Given the description of an element on the screen output the (x, y) to click on. 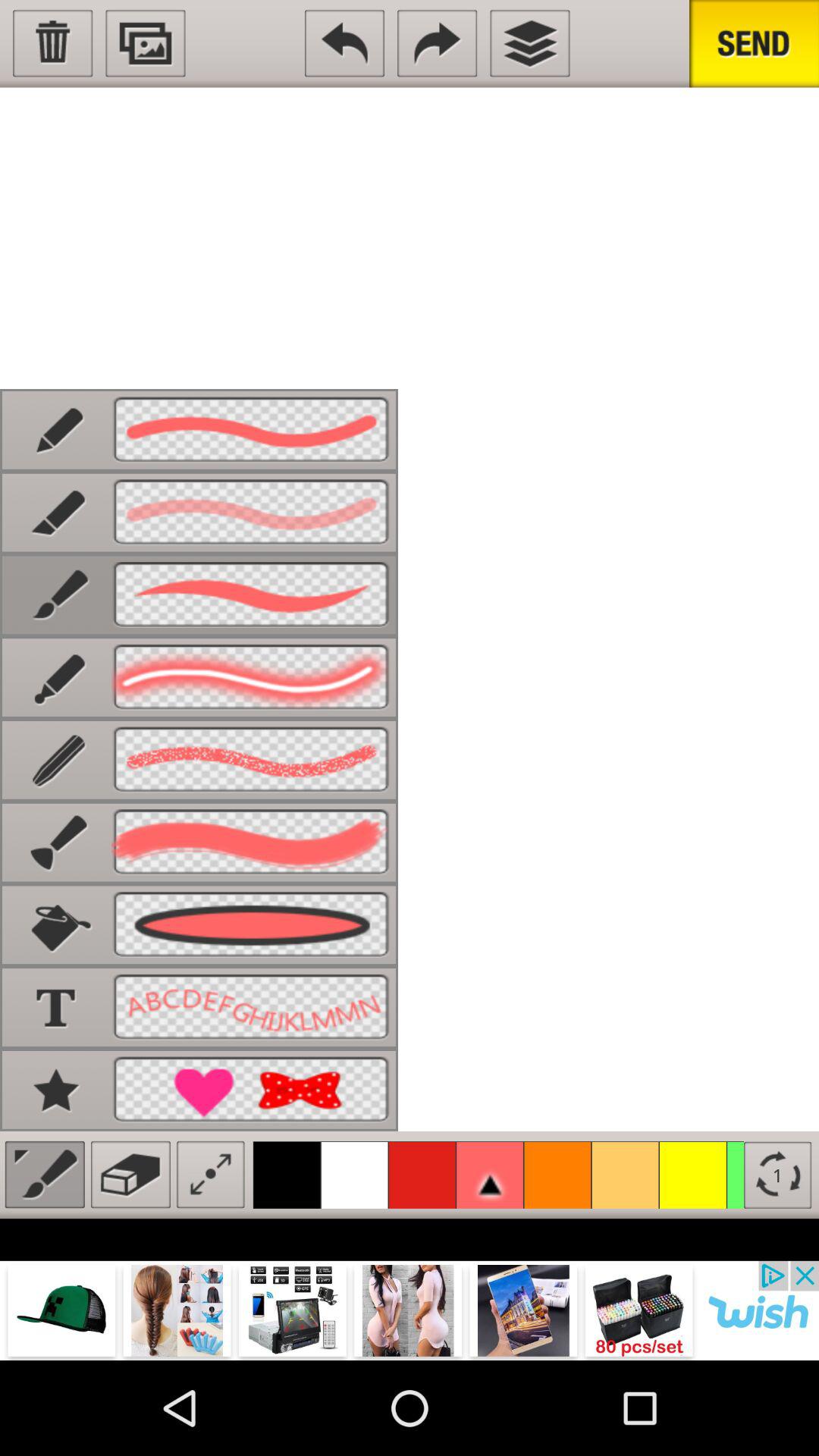
delete (52, 43)
